Given the description of an element on the screen output the (x, y) to click on. 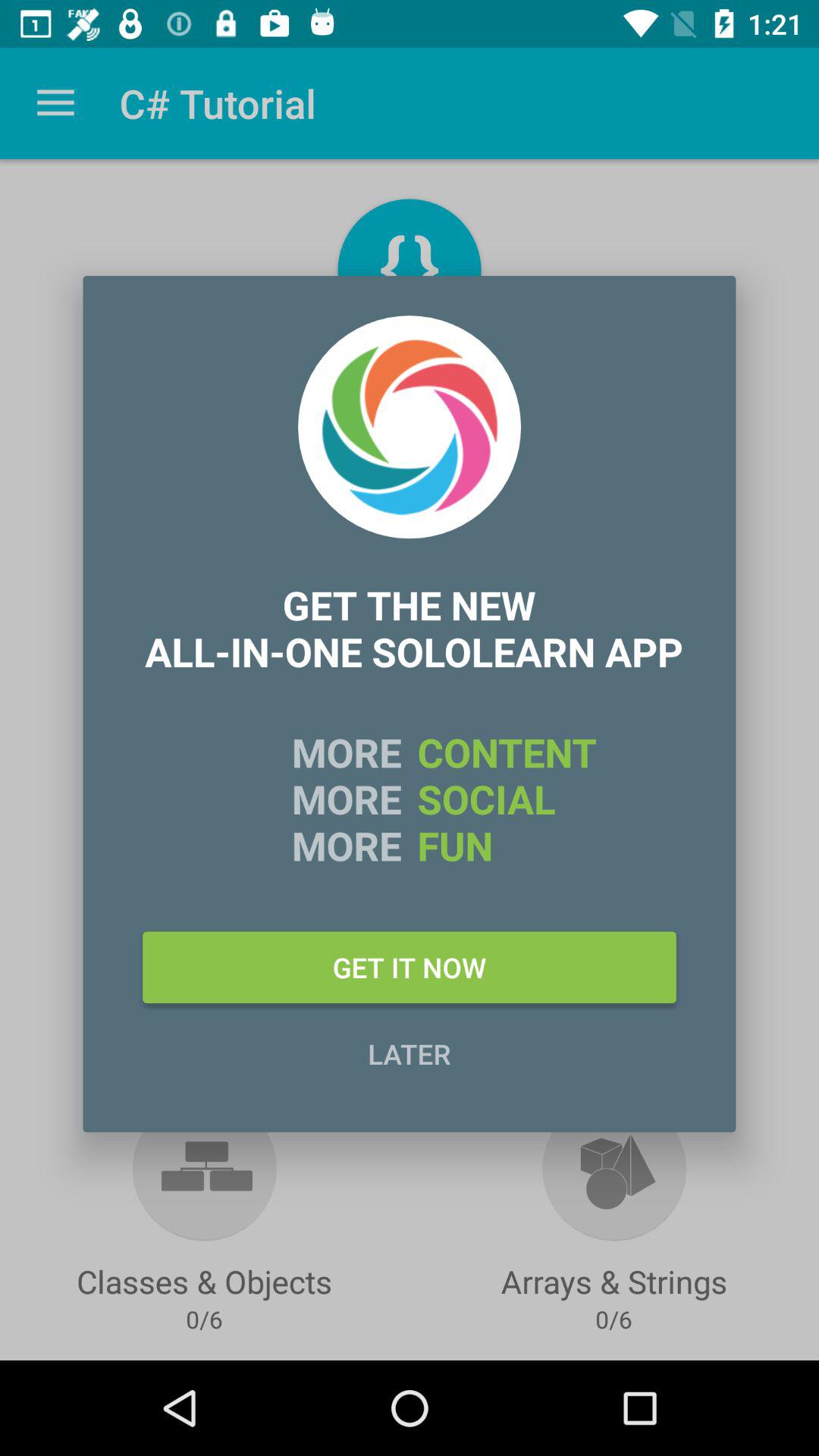
tap later item (409, 1053)
